Given the description of an element on the screen output the (x, y) to click on. 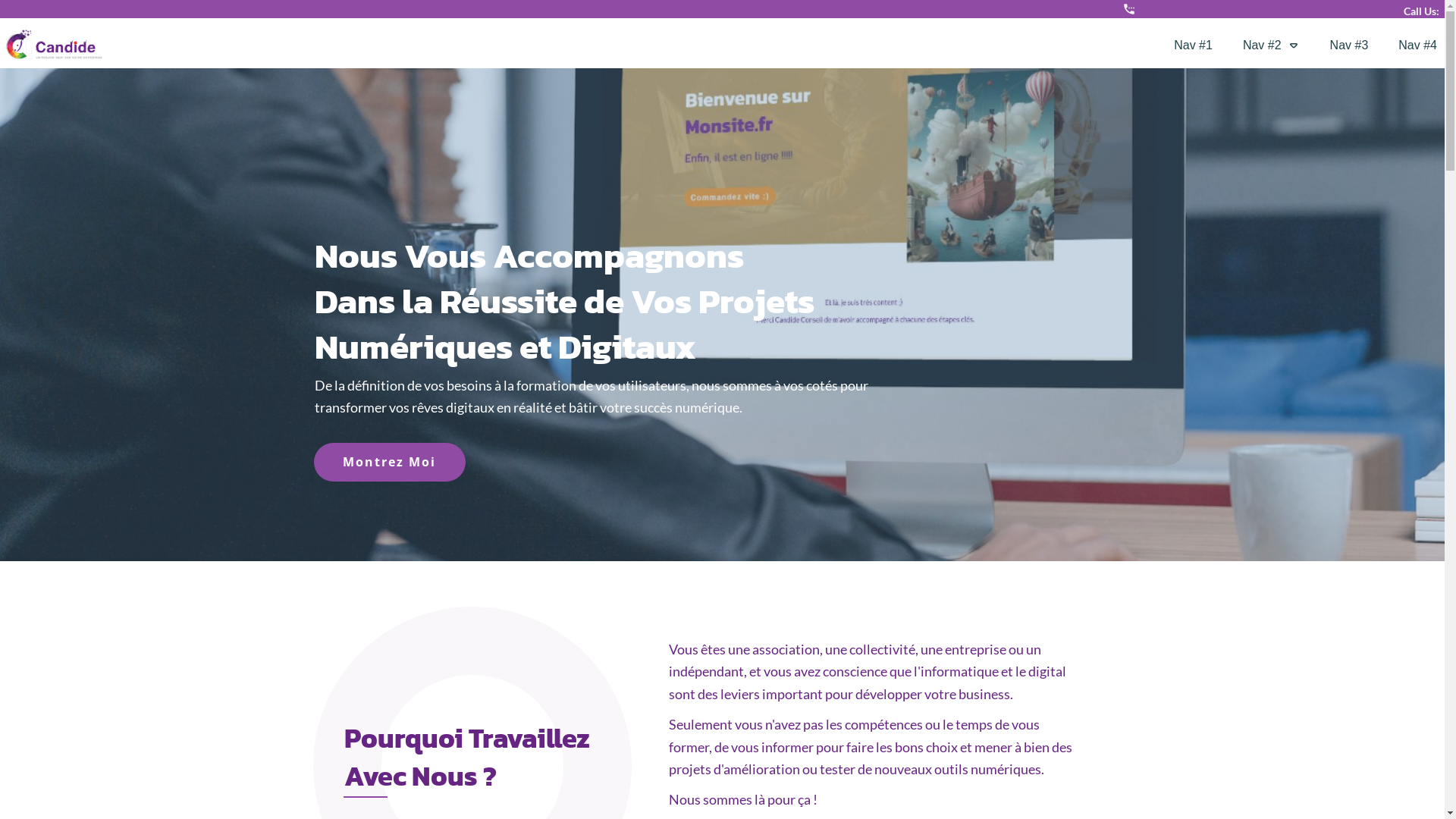
Nav #4 Element type: text (1417, 45)
Nav #2 Element type: text (1270, 45)
Nav #3 Element type: text (1349, 45)
Montrez Moi Element type: text (389, 461)
Nav #1 Element type: text (1192, 45)
